Given the description of an element on the screen output the (x, y) to click on. 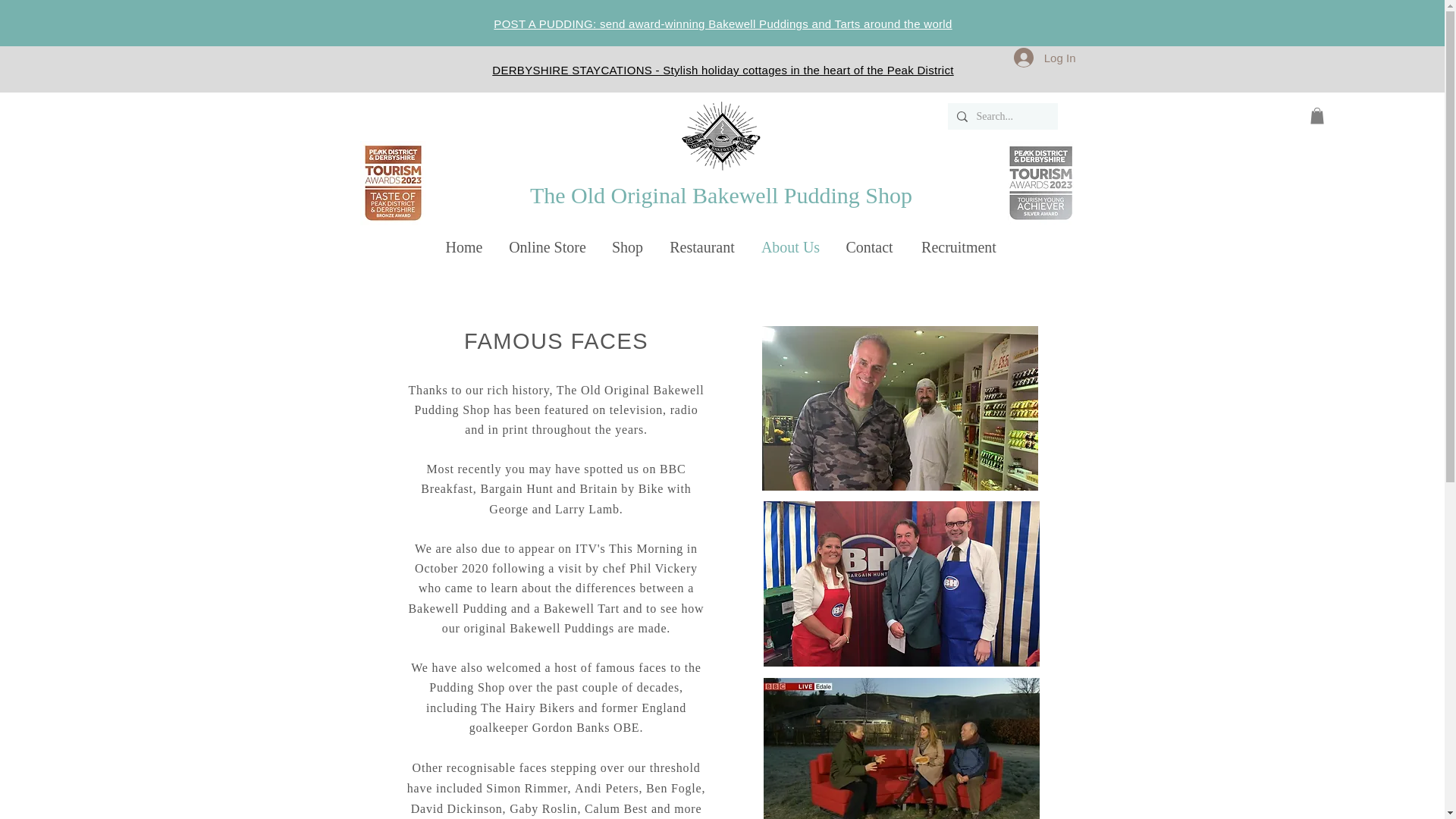
Contact (869, 246)
Online Store (547, 246)
Shop (627, 246)
Log In (1044, 57)
Home (463, 246)
Recruitment (958, 246)
Restaurant (702, 246)
The Old Original Bakewell Pudding Shop (720, 195)
